Given the description of an element on the screen output the (x, y) to click on. 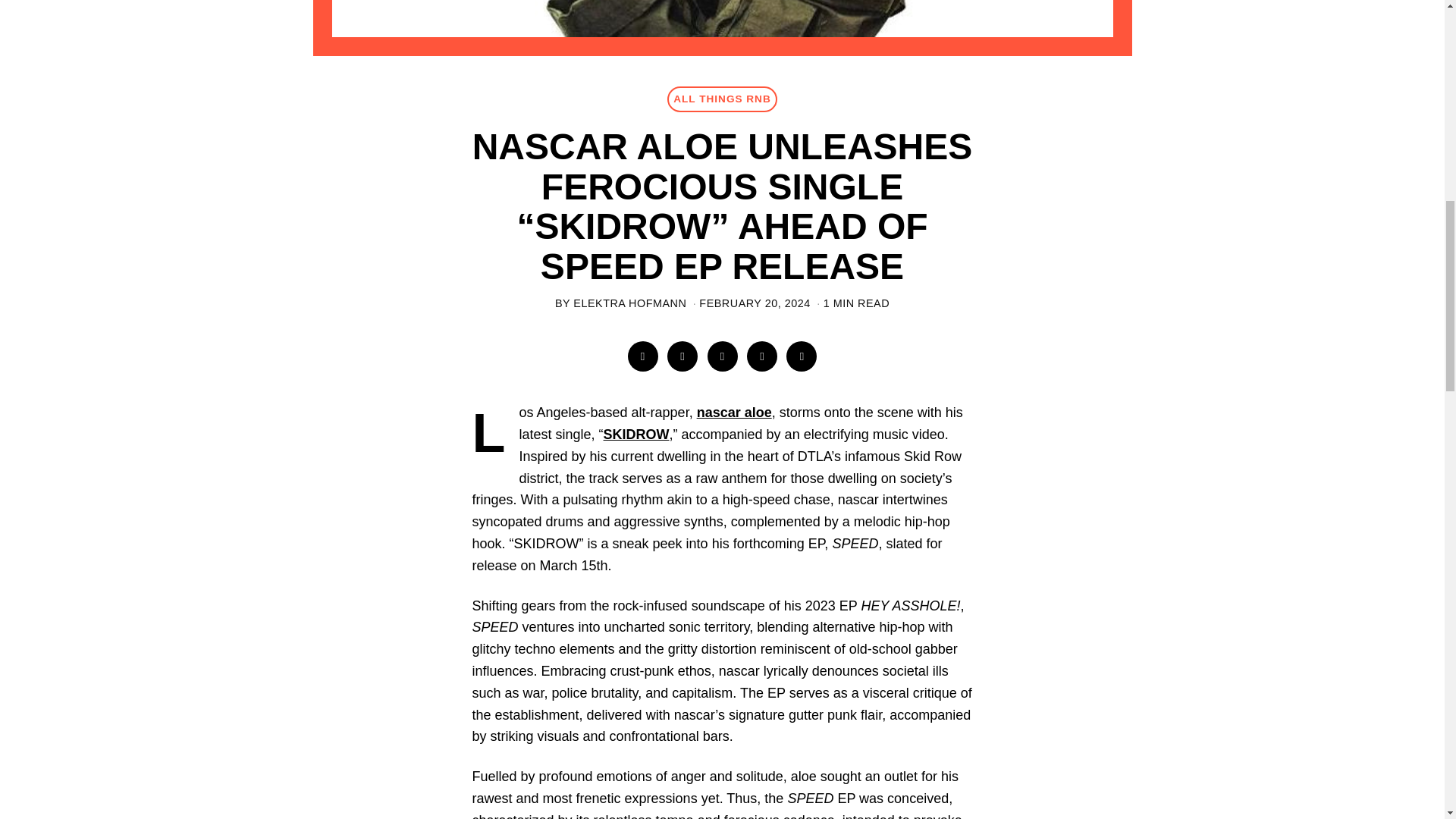
SKIDROW (636, 434)
ALL THINGS RNB (721, 99)
nascar aloe (734, 412)
ELEKTRA HOFMANN (629, 303)
